Given the description of an element on the screen output the (x, y) to click on. 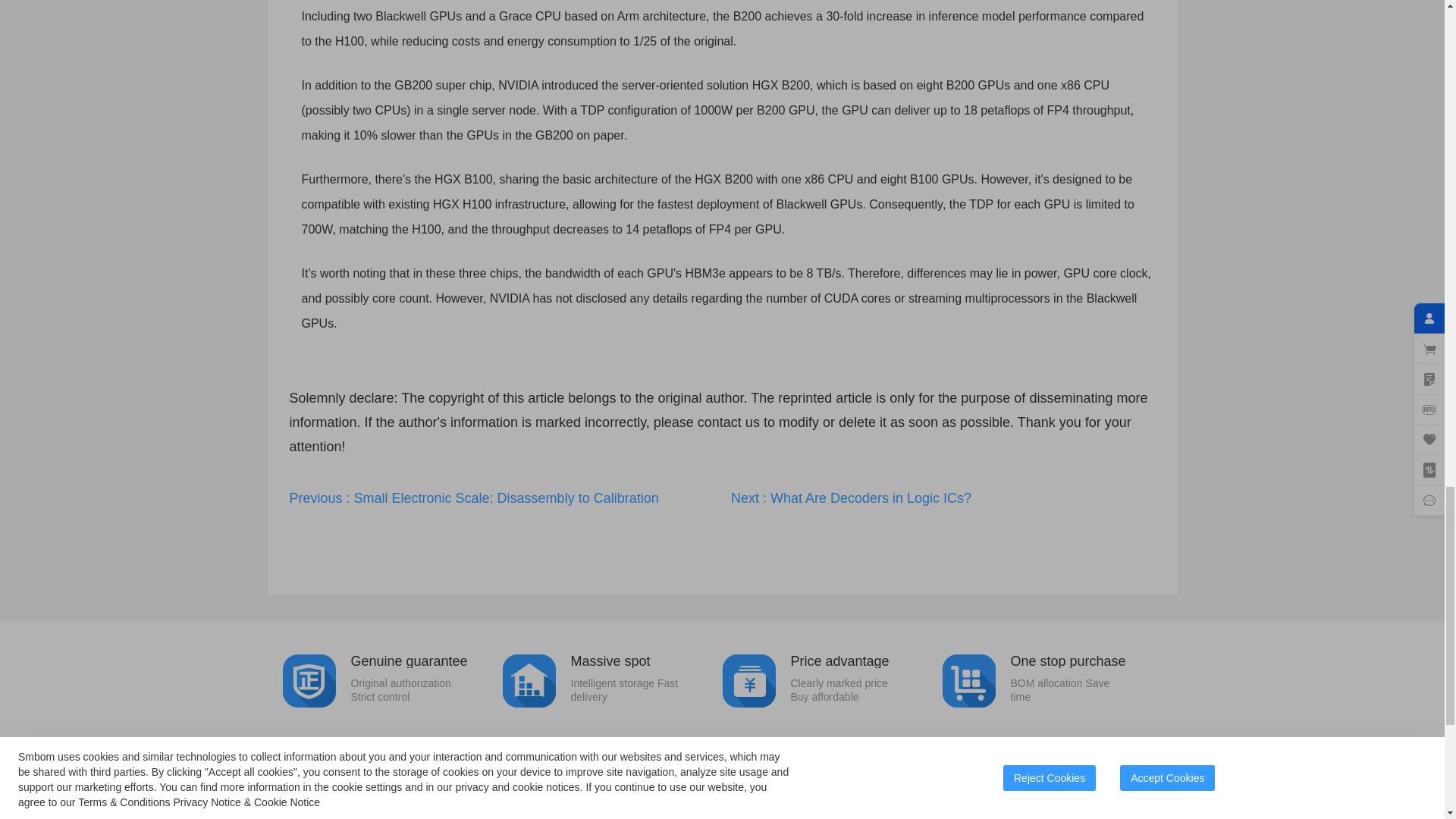
Next : What Are Decoders in Logic ICs? (1051, 678)
